Given the description of an element on the screen output the (x, y) to click on. 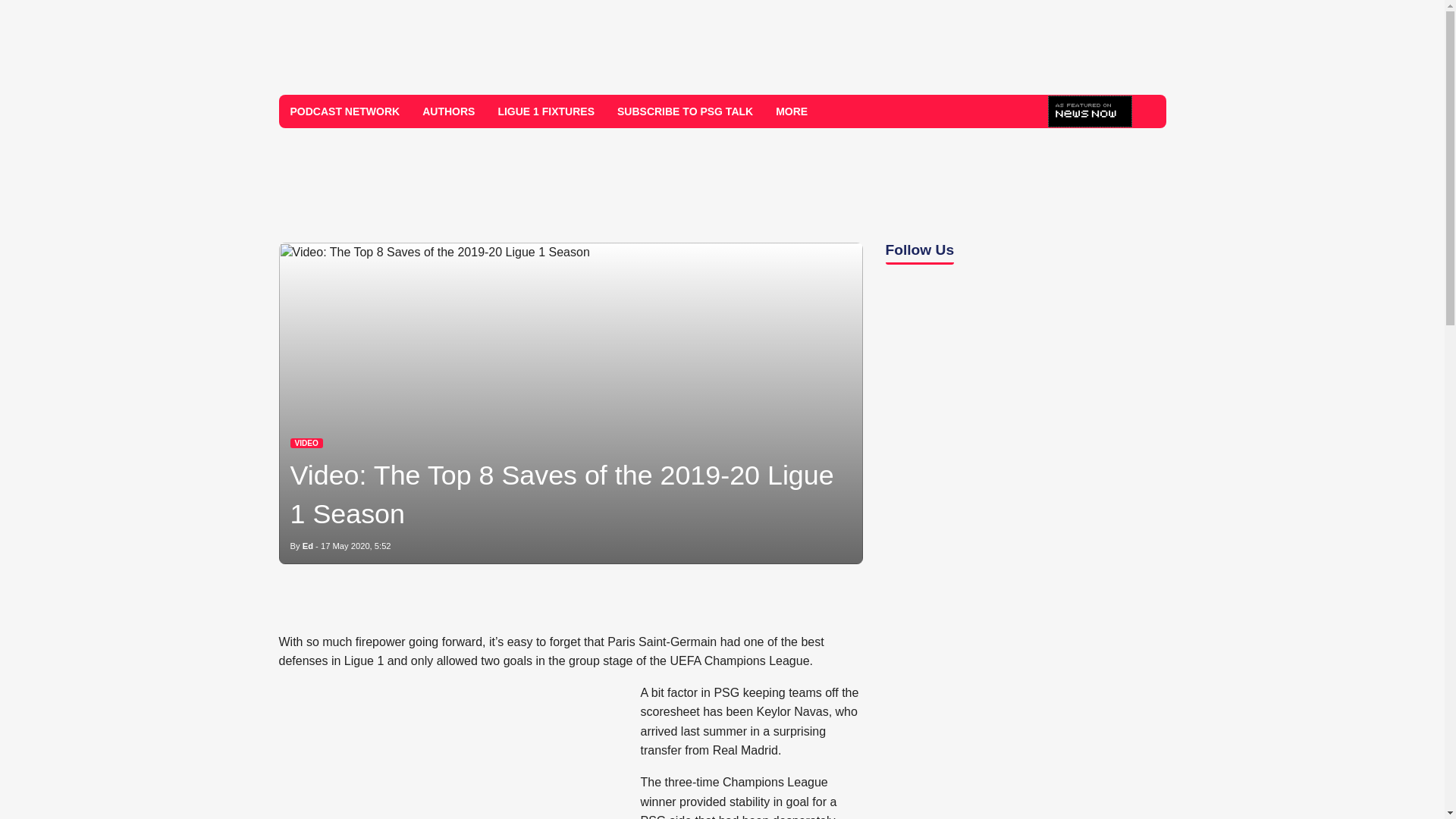
Search (1147, 111)
Latest Video News (305, 442)
SUBSCRIBE TO PSG TALK (684, 111)
MORE (796, 111)
VIDEO (305, 442)
17 May 2020, 5:52 (355, 545)
LIGUE 1 FIXTURES (545, 111)
AUTHORS (448, 111)
Ed (307, 545)
